Given the description of an element on the screen output the (x, y) to click on. 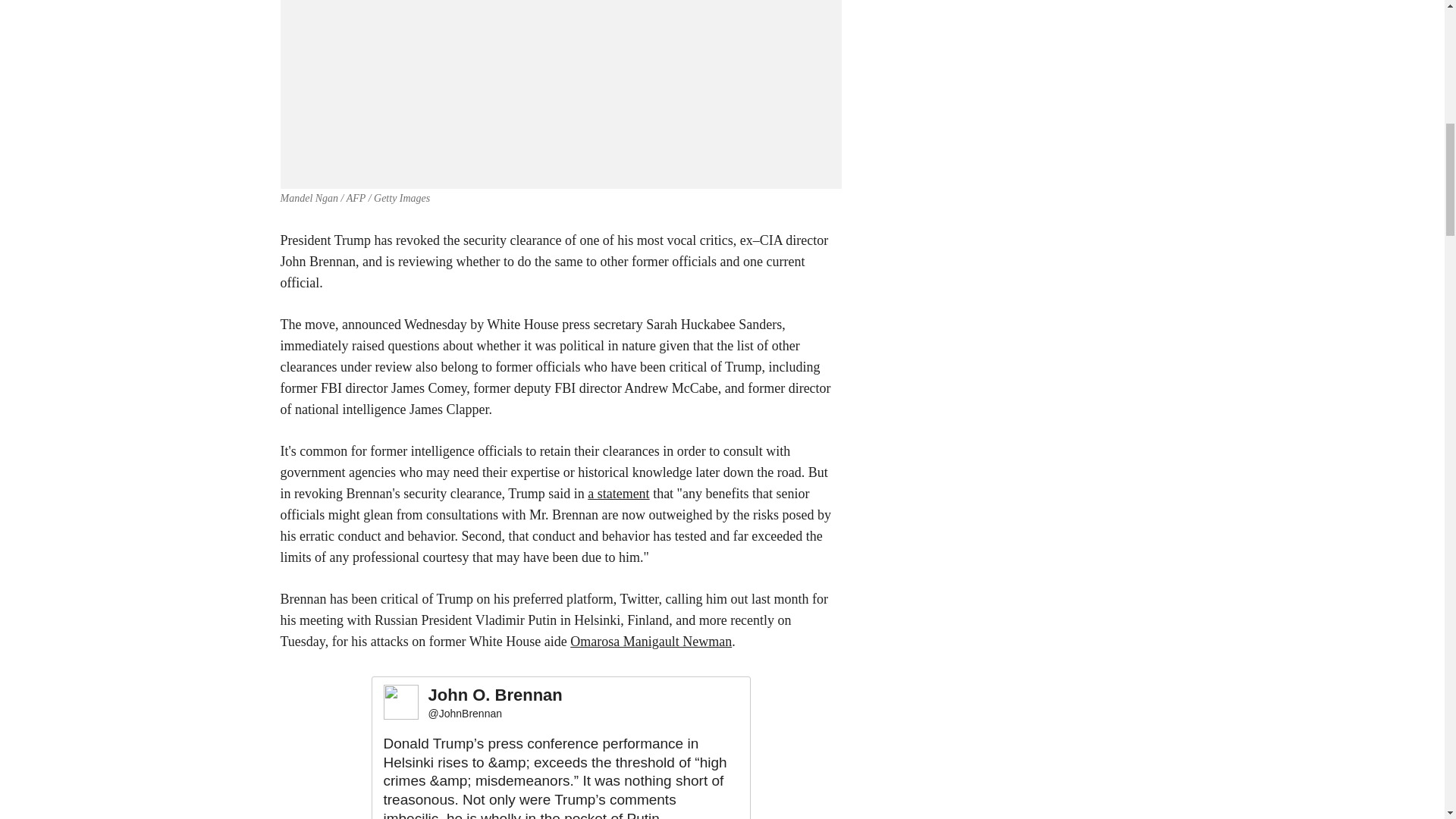
a statement (618, 493)
Omarosa Manigault Newman (651, 641)
John O. Brennan (495, 695)
